Given the description of an element on the screen output the (x, y) to click on. 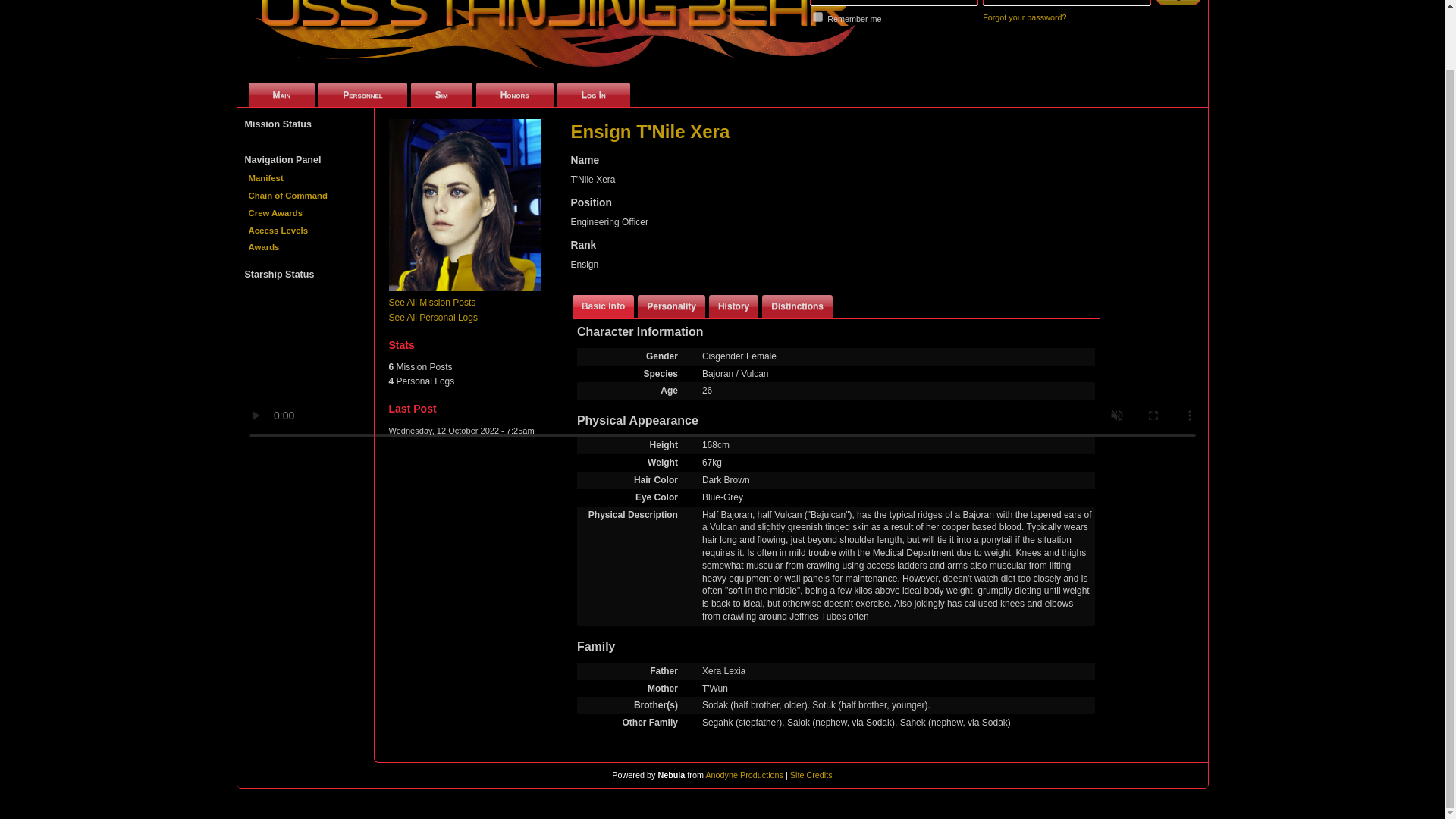
See All Personal Logs (432, 317)
Manifest (304, 178)
See All Mission Posts (432, 302)
Access Levels (304, 230)
Honors (514, 94)
Sim (440, 94)
History (733, 305)
Distinctions (796, 305)
Basic Info (602, 305)
Personality (670, 305)
